Given the description of an element on the screen output the (x, y) to click on. 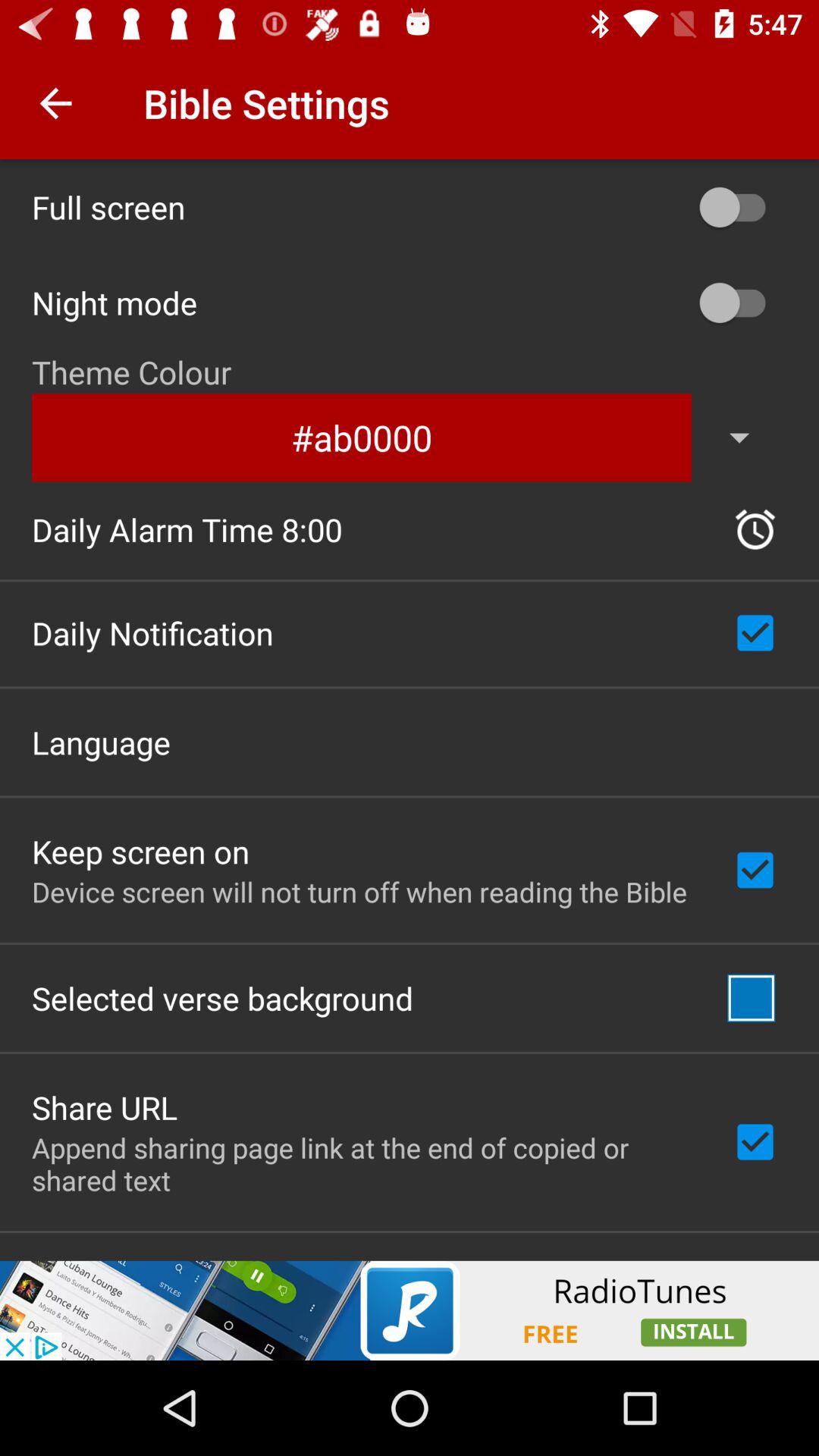
button to change alarm time (755, 529)
